Given the description of an element on the screen output the (x, y) to click on. 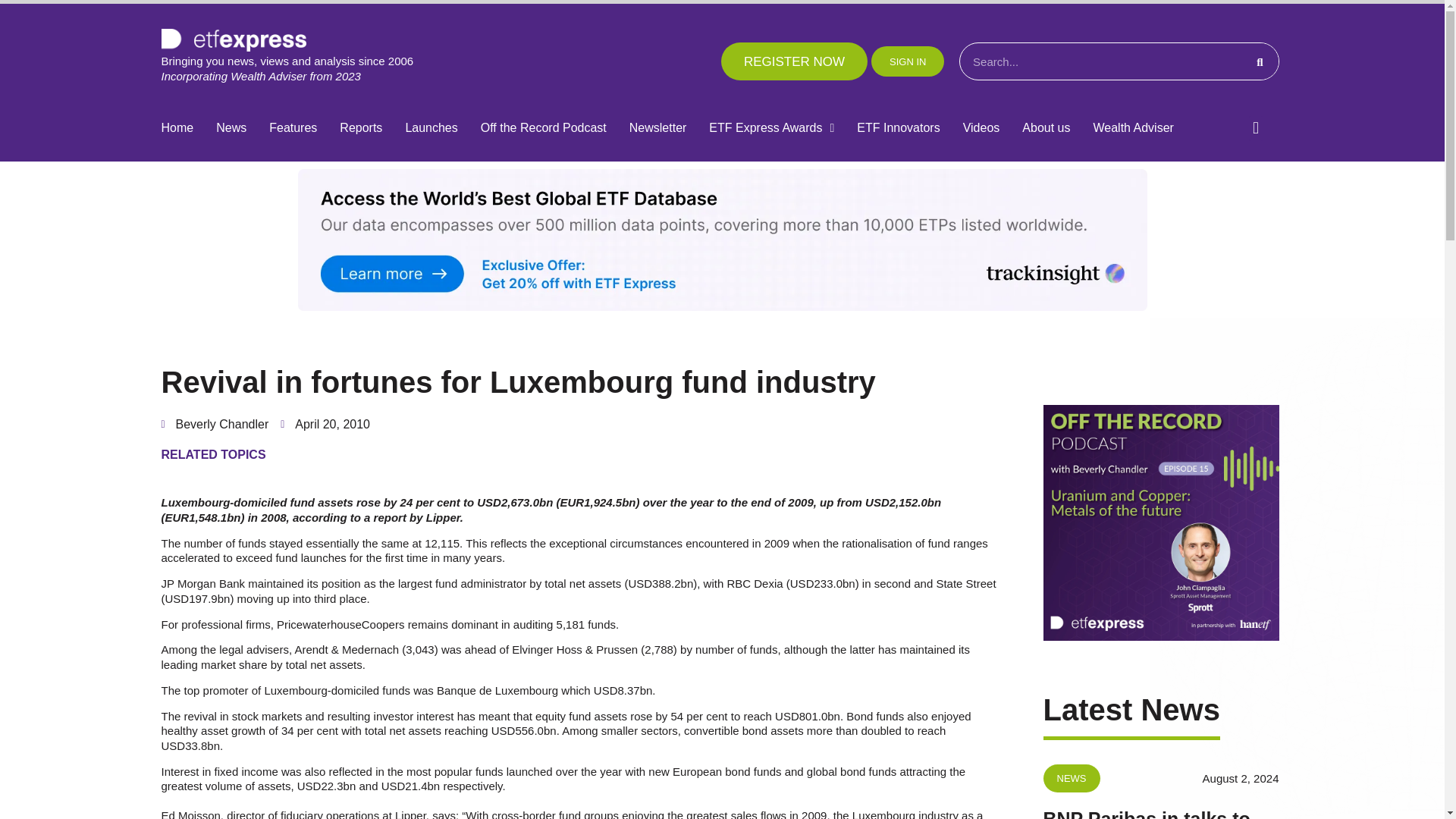
SIGN IN (906, 60)
REGISTER NOW (793, 61)
